Given the description of an element on the screen output the (x, y) to click on. 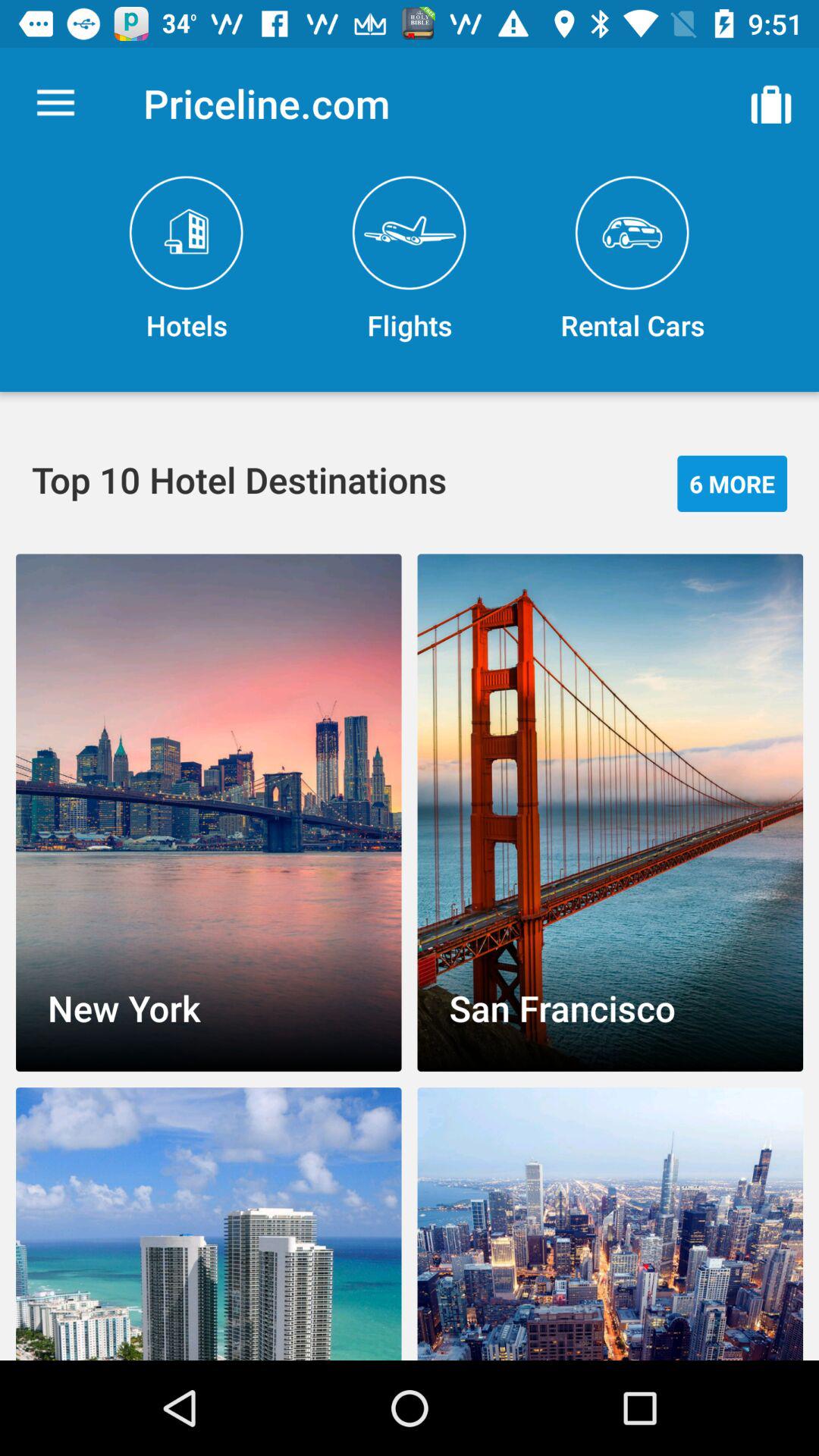
tap item above the top 10 hotel (186, 259)
